Given the description of an element on the screen output the (x, y) to click on. 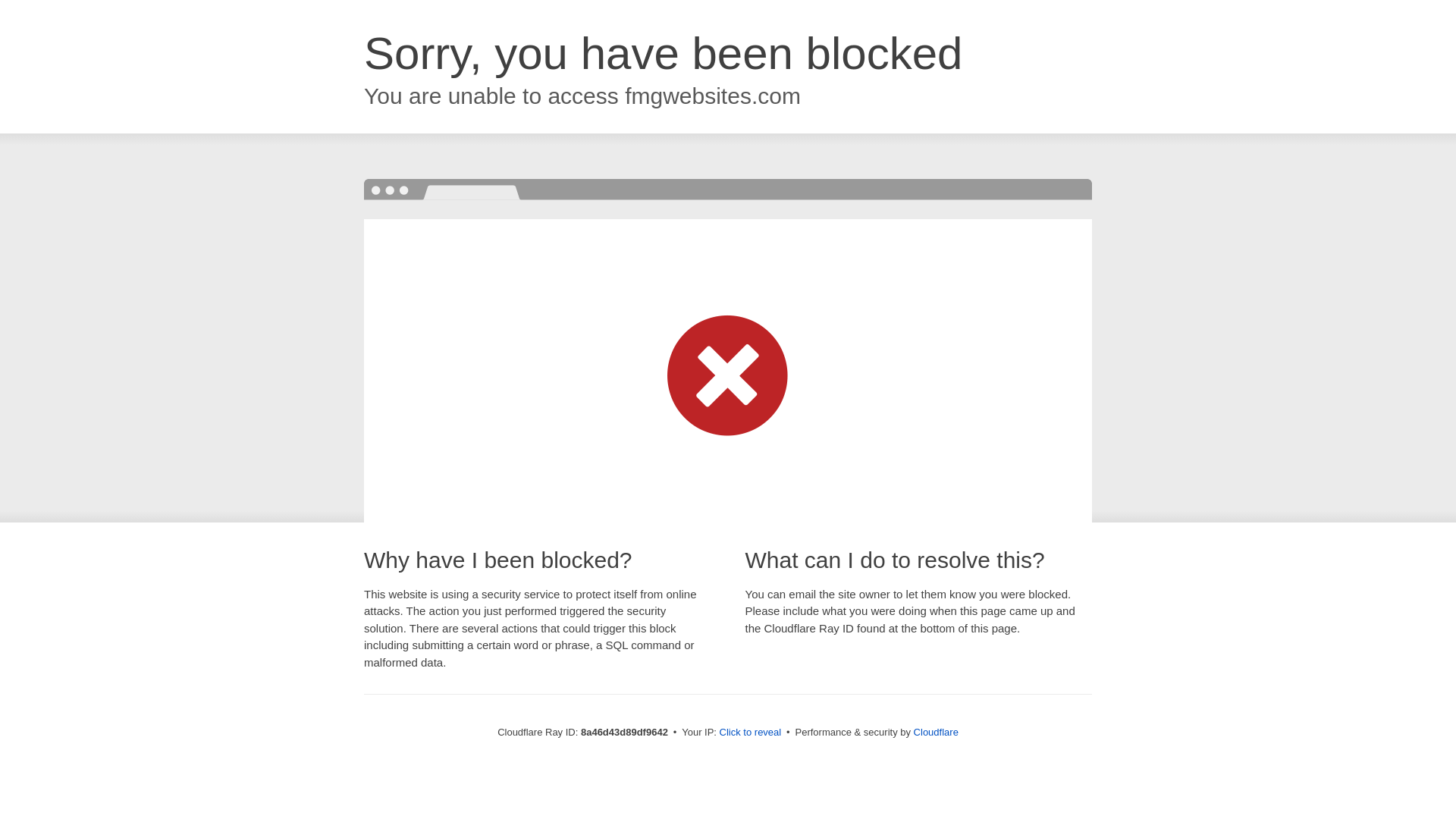
Cloudflare (936, 731)
Click to reveal (750, 732)
